Given the description of an element on the screen output the (x, y) to click on. 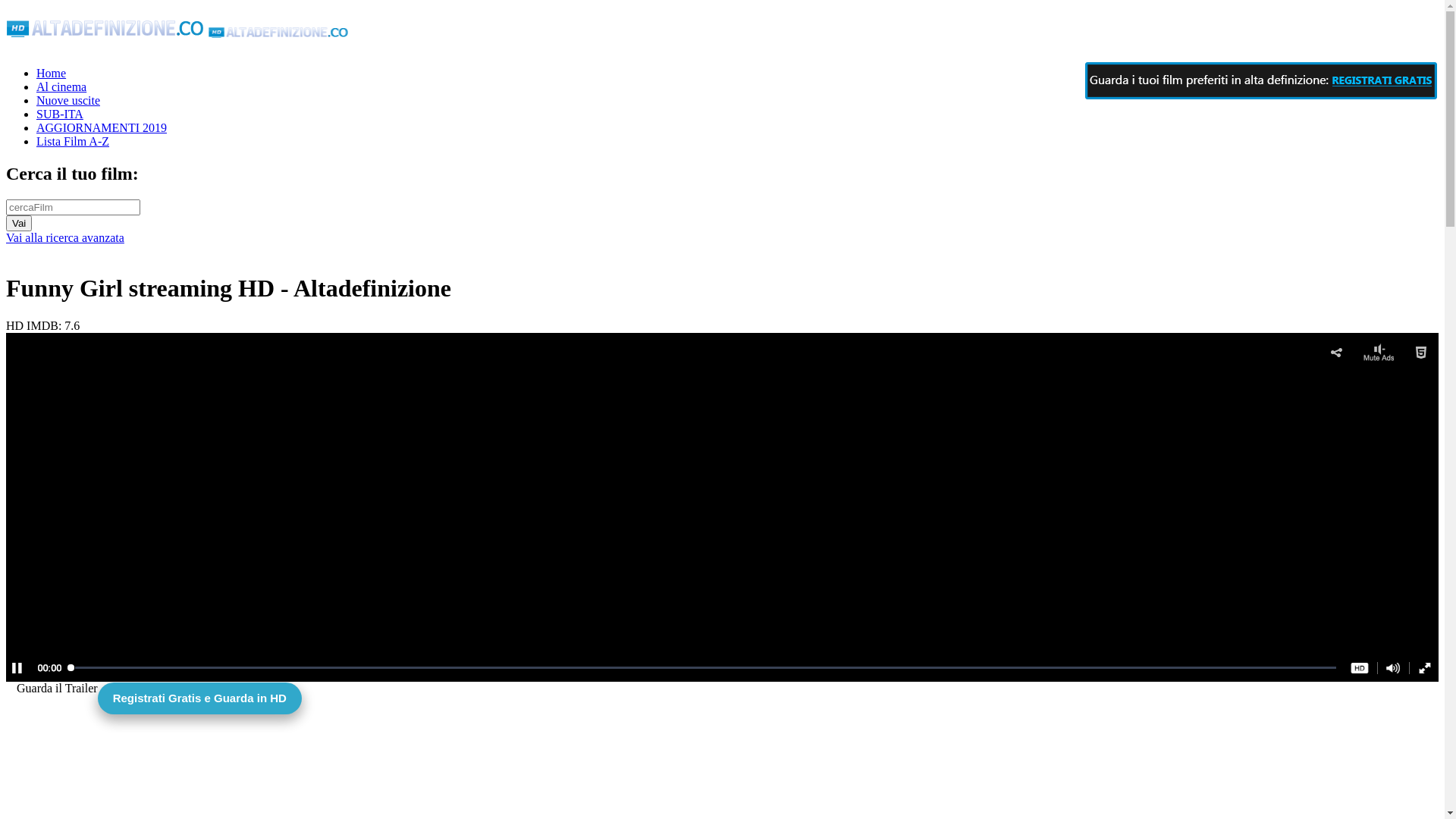
Lista Film A-Z Element type: text (72, 140)
SUB-ITA Element type: text (59, 113)
Home Element type: text (50, 72)
Registrati Gratis e Guarda in HD Element type: text (722, 682)
Al cinema Element type: text (61, 86)
Nuove uscite Element type: text (68, 100)
Vai alla ricerca avanzata Element type: text (65, 237)
AGGIORNAMENTI 2019 Element type: text (101, 127)
Vai Element type: text (18, 223)
